Given the description of an element on the screen output the (x, y) to click on. 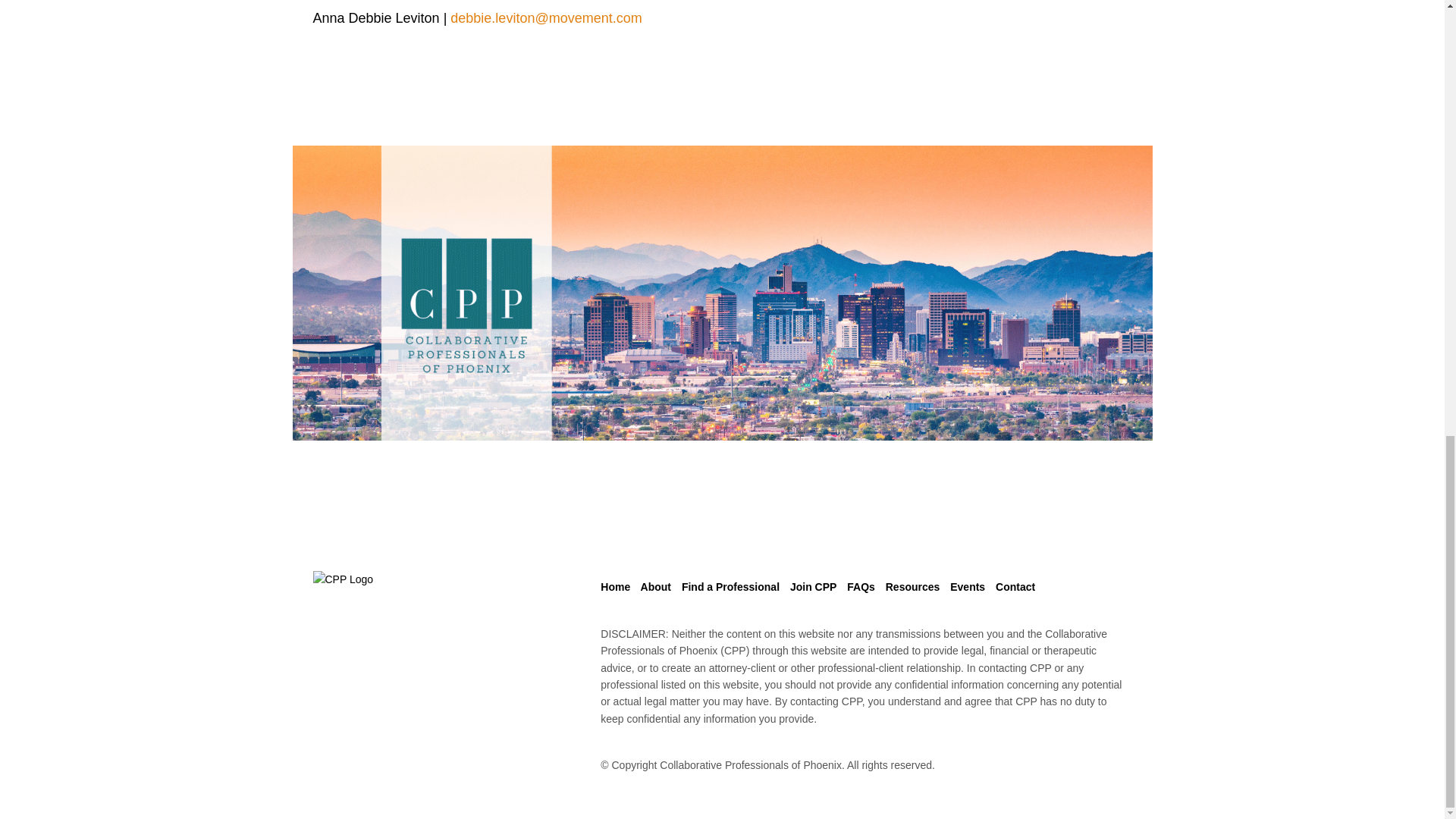
Home (618, 586)
Events (971, 586)
Join CPP (817, 586)
Resources (916, 586)
FAQs (864, 586)
Find a Professional (734, 586)
About (660, 586)
Contact (1018, 586)
